Given the description of an element on the screen output the (x, y) to click on. 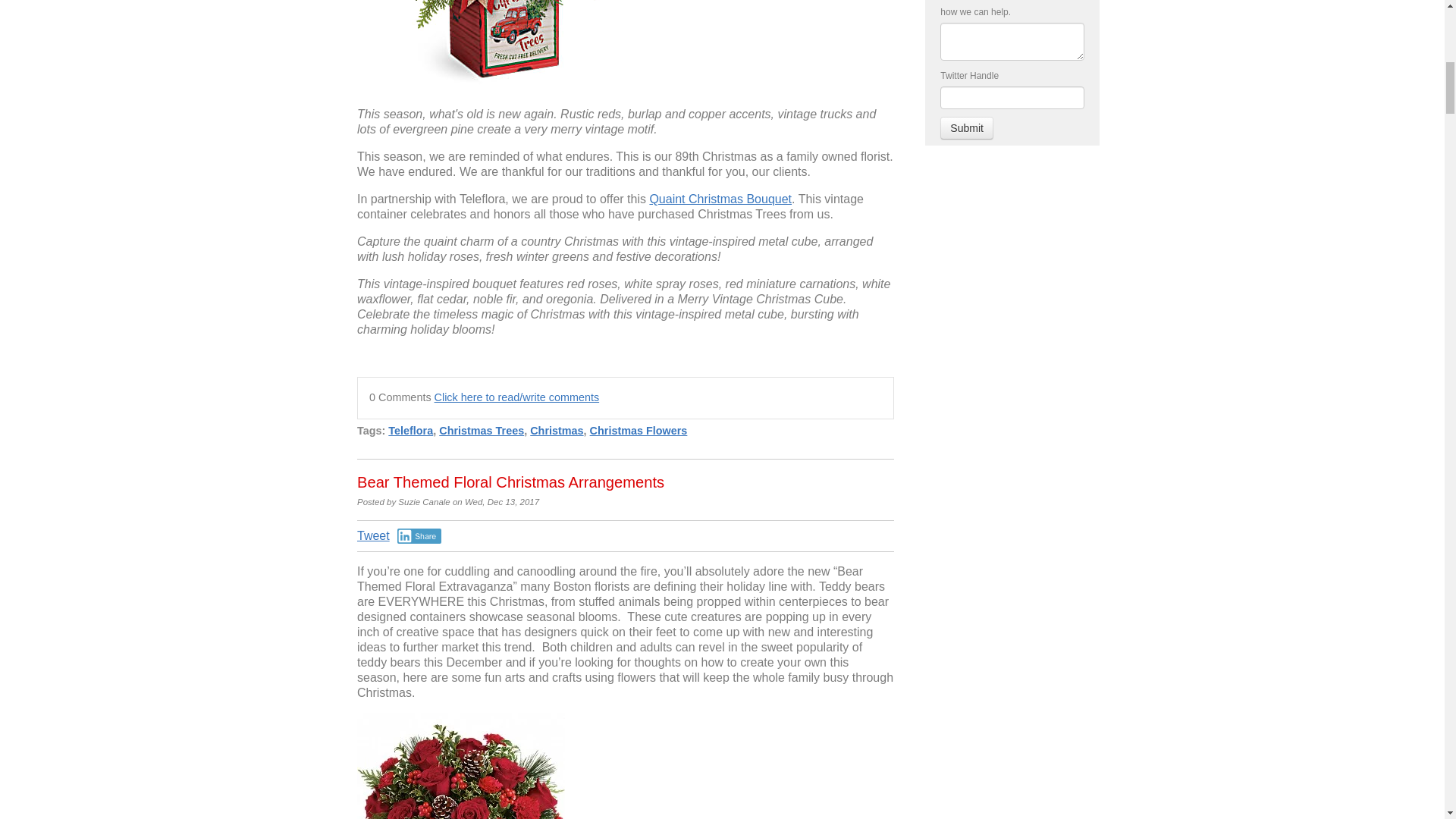
Christmas (556, 430)
Christmas Trees (481, 430)
Submit (966, 128)
Bear Themed Floral Christmas Arrangements (509, 482)
Quaint Christmas Bouquet (720, 198)
Share (419, 535)
Teleflora (410, 430)
Tweet (373, 535)
Christmas Flowers (638, 430)
